Given the description of an element on the screen output the (x, y) to click on. 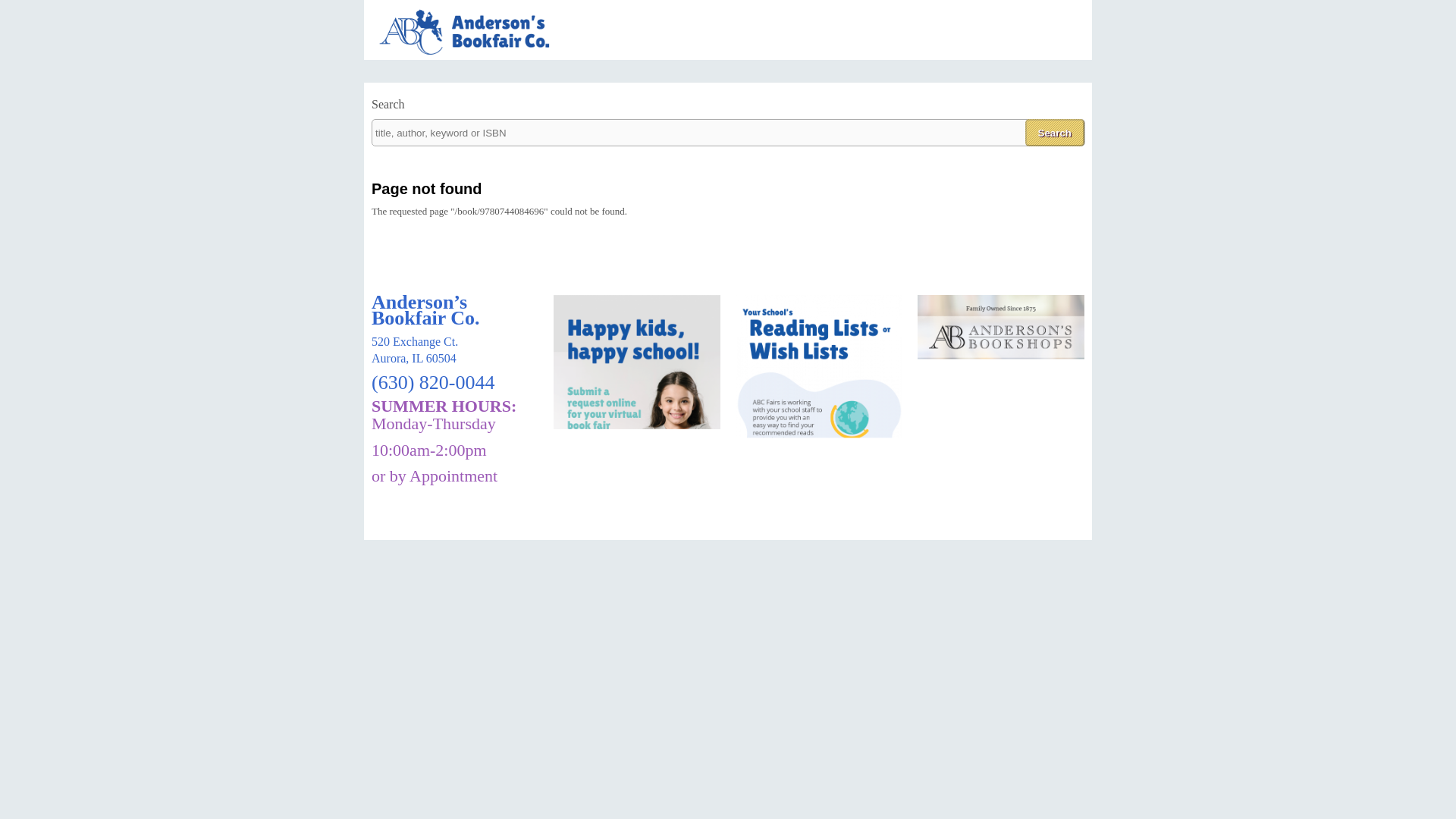
Search (1054, 132)
Home (473, 52)
Search (1054, 132)
Enter the terms you wish to search for. (727, 132)
